Given the description of an element on the screen output the (x, y) to click on. 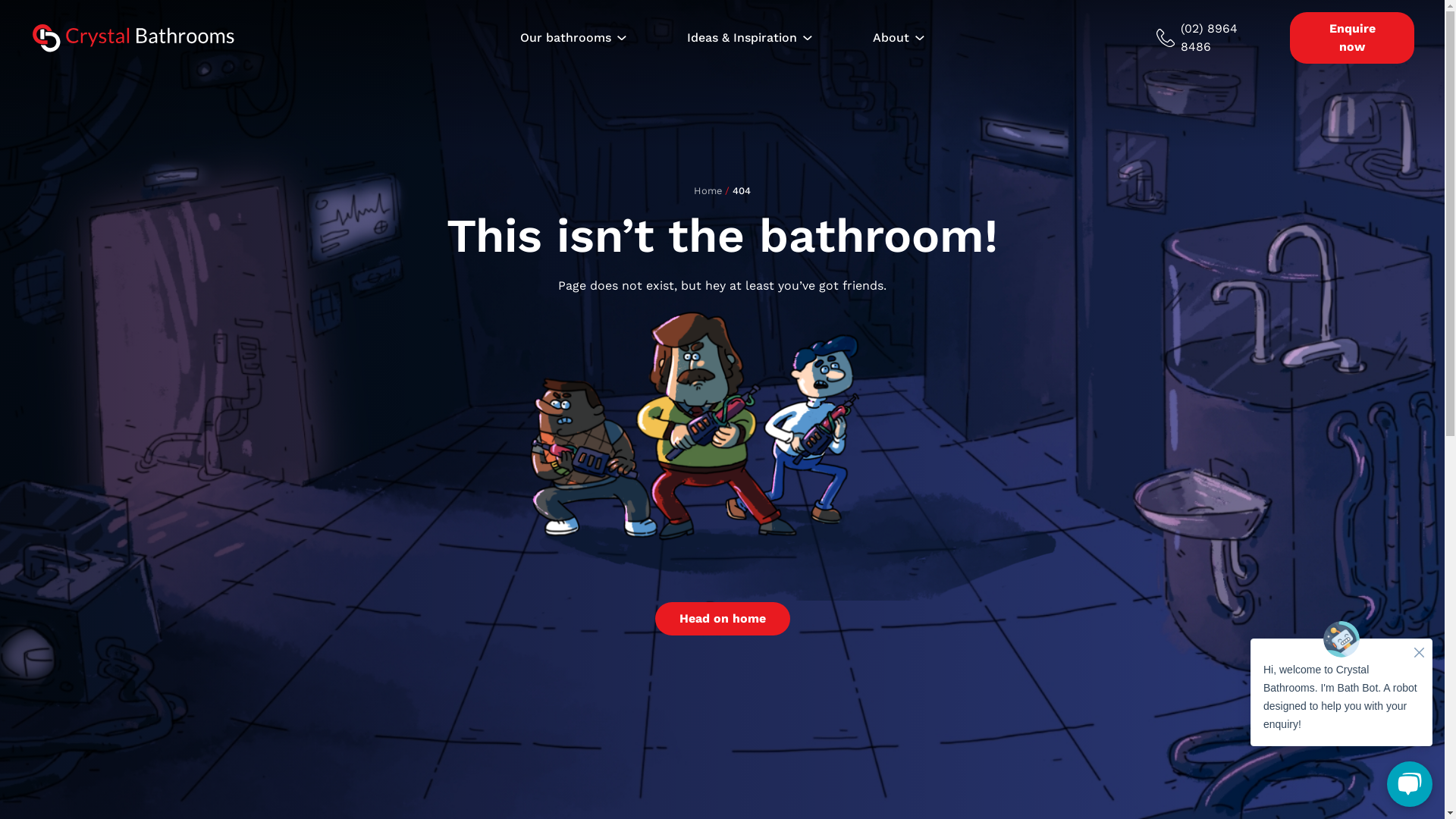
Enquire now Element type: text (1351, 37)
Home Element type: text (707, 190)
Head on home Element type: text (722, 618)
(02) 8964 8486 Element type: text (1213, 37)
